Given the description of an element on the screen output the (x, y) to click on. 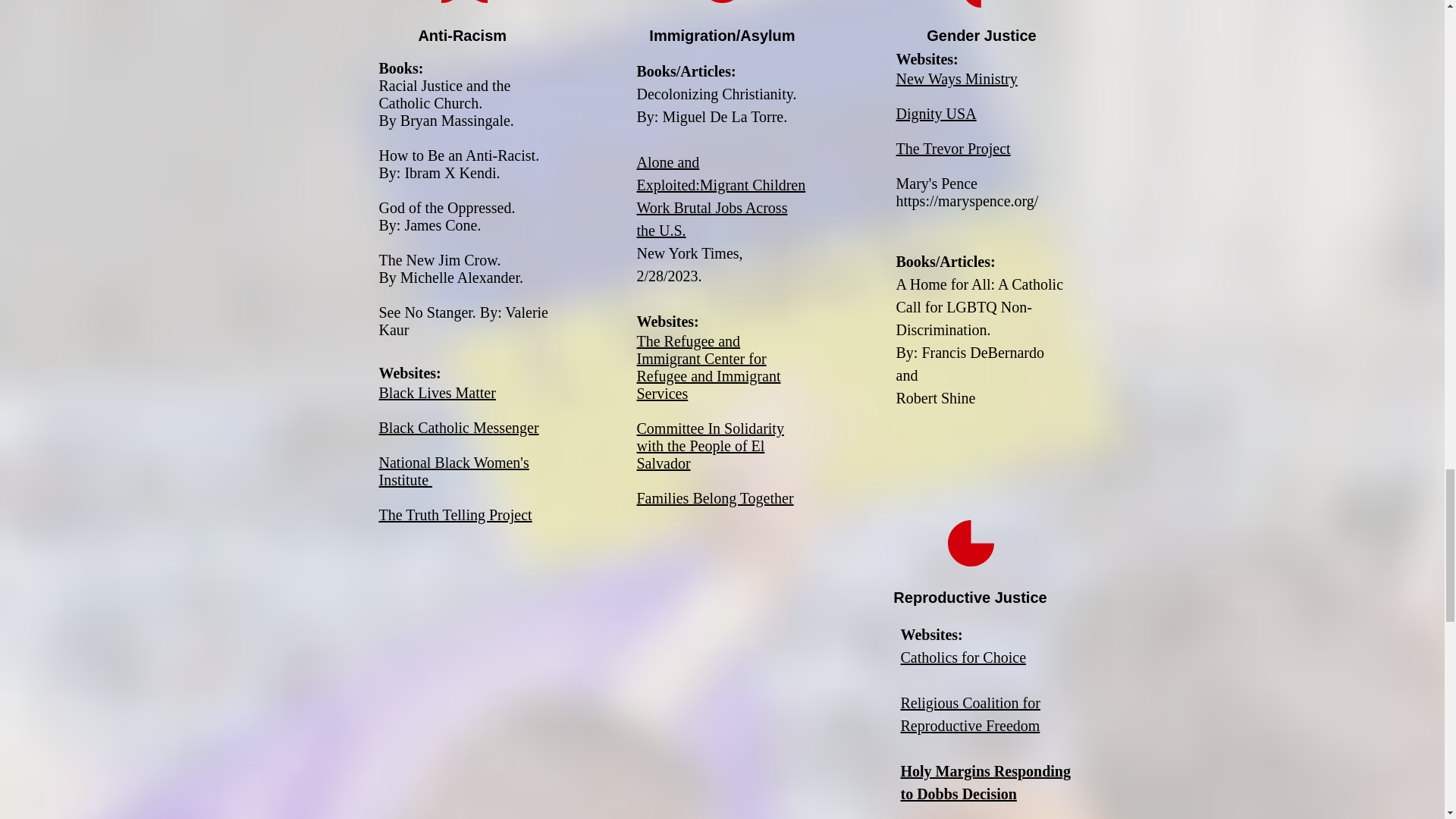
The Truth Telling Project (455, 514)
Black Catholic Messenger (458, 427)
National Black Women's Institute  (453, 471)
Catholics for Choice (963, 657)
Committee In Solidarity with the People of El Salvador (710, 445)
Families Belong Together (715, 497)
New Ways Ministry (956, 78)
Religious Coalition for Reproductive Freedom (971, 713)
Black Lives Matter (437, 392)
The Trevor Project (953, 148)
Dignity USA (936, 113)
Holy Margins Responding to Dobbs Decision (985, 782)
